Given the description of an element on the screen output the (x, y) to click on. 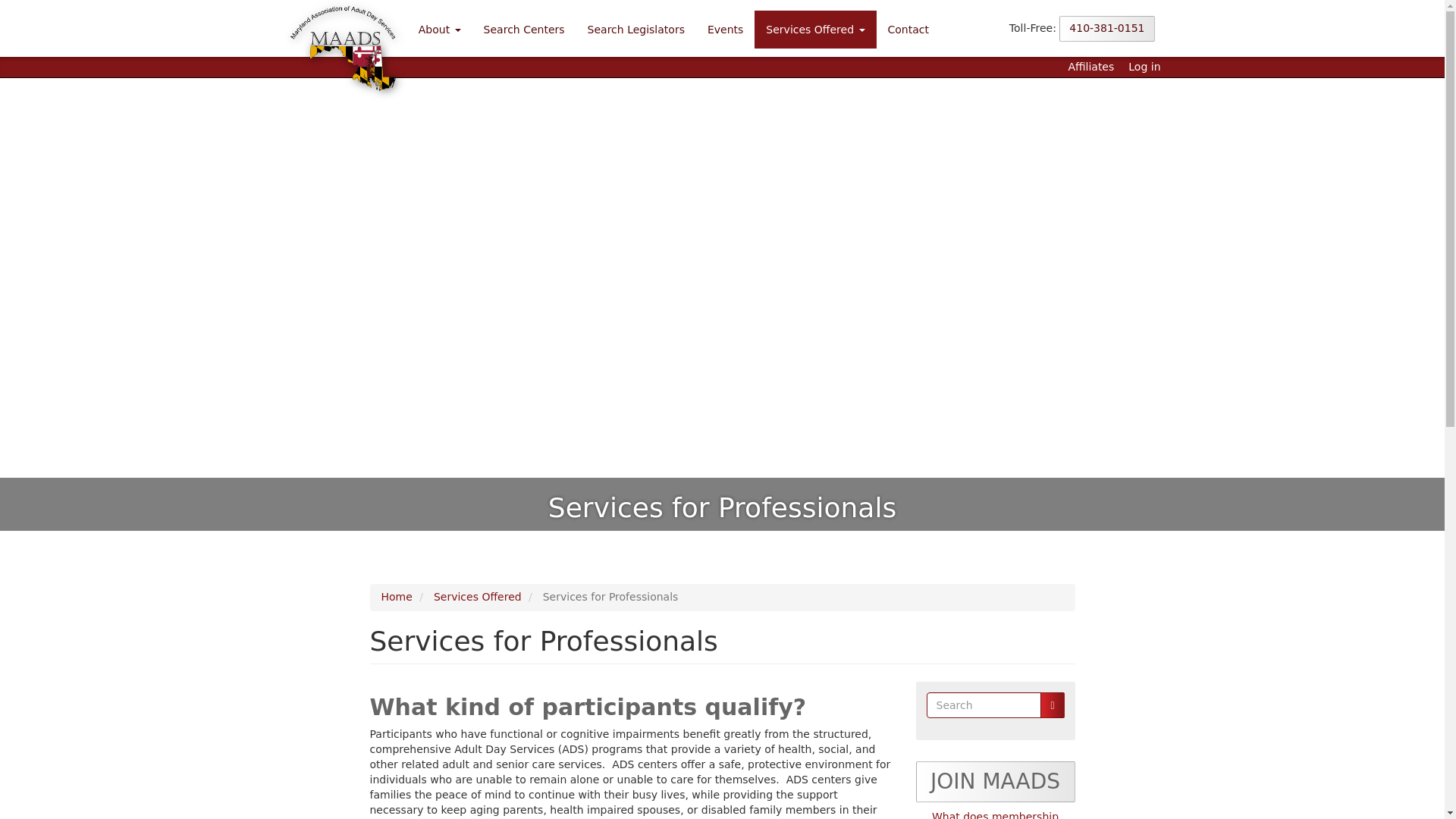
Search Legislators (635, 29)
Affiliates (1090, 66)
Home (396, 596)
Enter the terms you wish to search for. (984, 705)
About (439, 29)
Services Offered (815, 29)
Search Centers (523, 29)
JOIN MAADS (995, 781)
410-381-0151 (1106, 28)
What does membership entail? (994, 814)
Search (1052, 705)
Log in (1144, 66)
Events (724, 29)
Contact (908, 29)
